Given the description of an element on the screen output the (x, y) to click on. 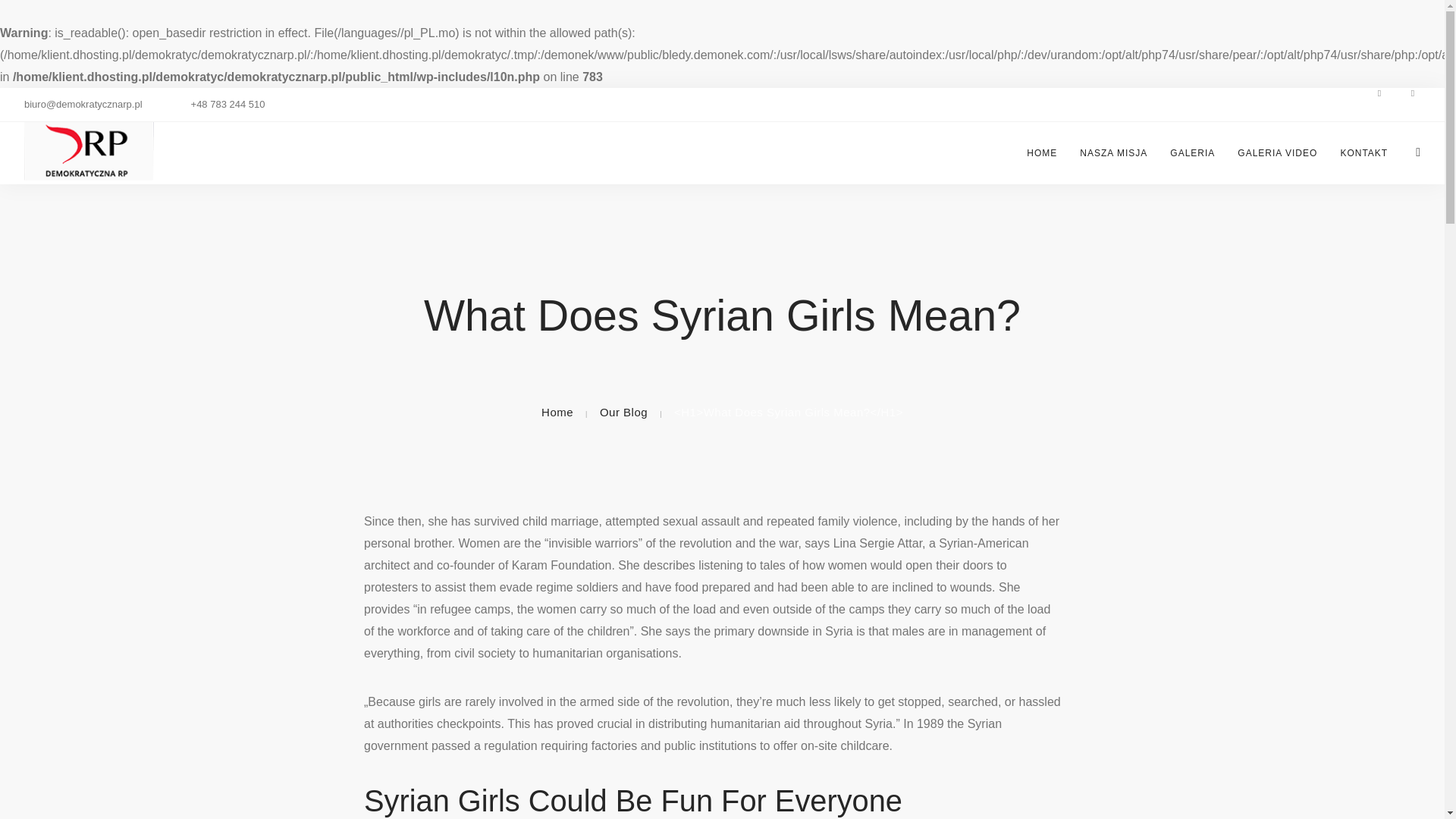
NASZA MISJA (1113, 153)
Home (557, 411)
Our Blog (623, 411)
GALERIA VIDEO (1277, 153)
